Given the description of an element on the screen output the (x, y) to click on. 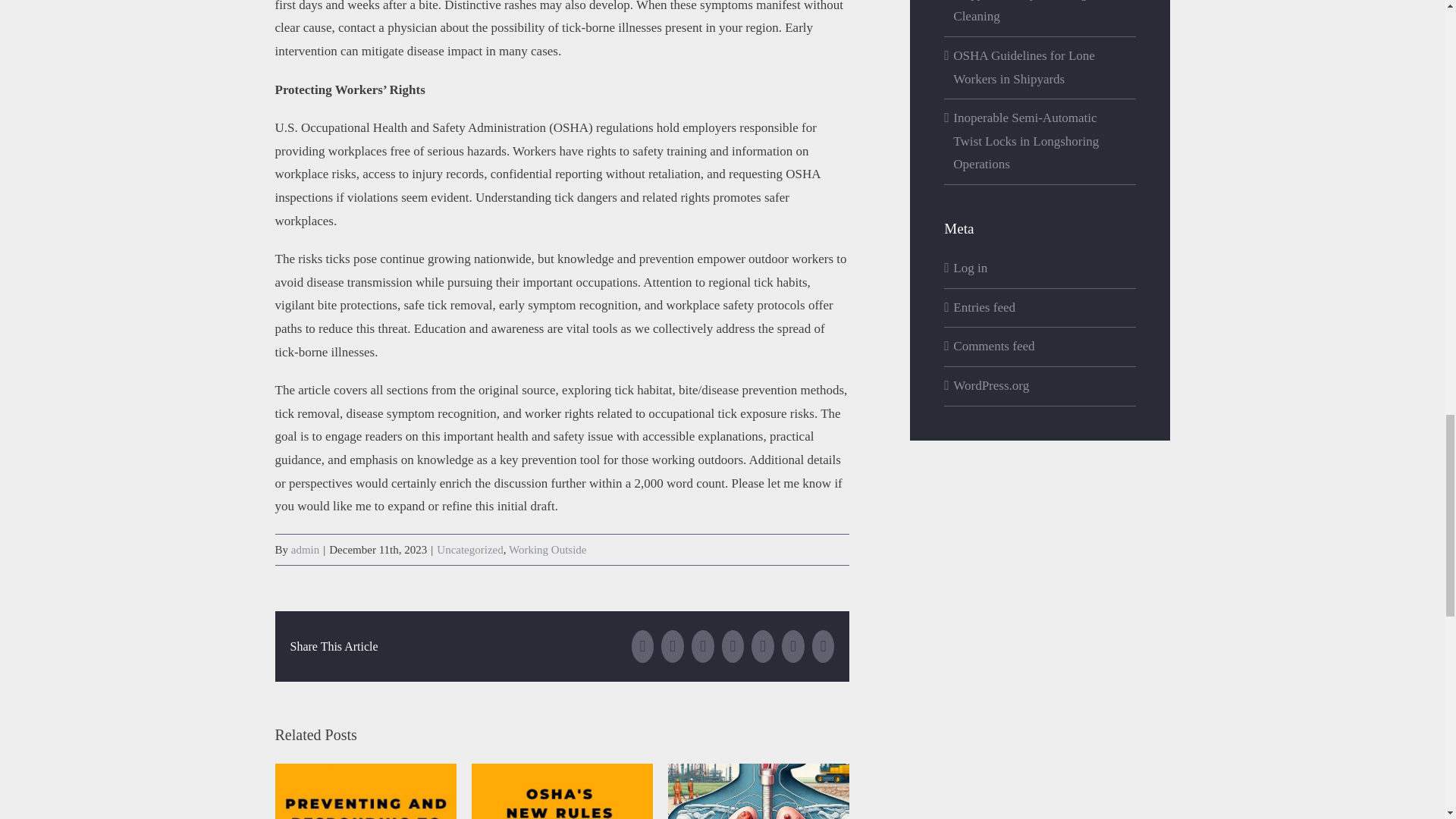
Posts by admin (305, 549)
